Given the description of an element on the screen output the (x, y) to click on. 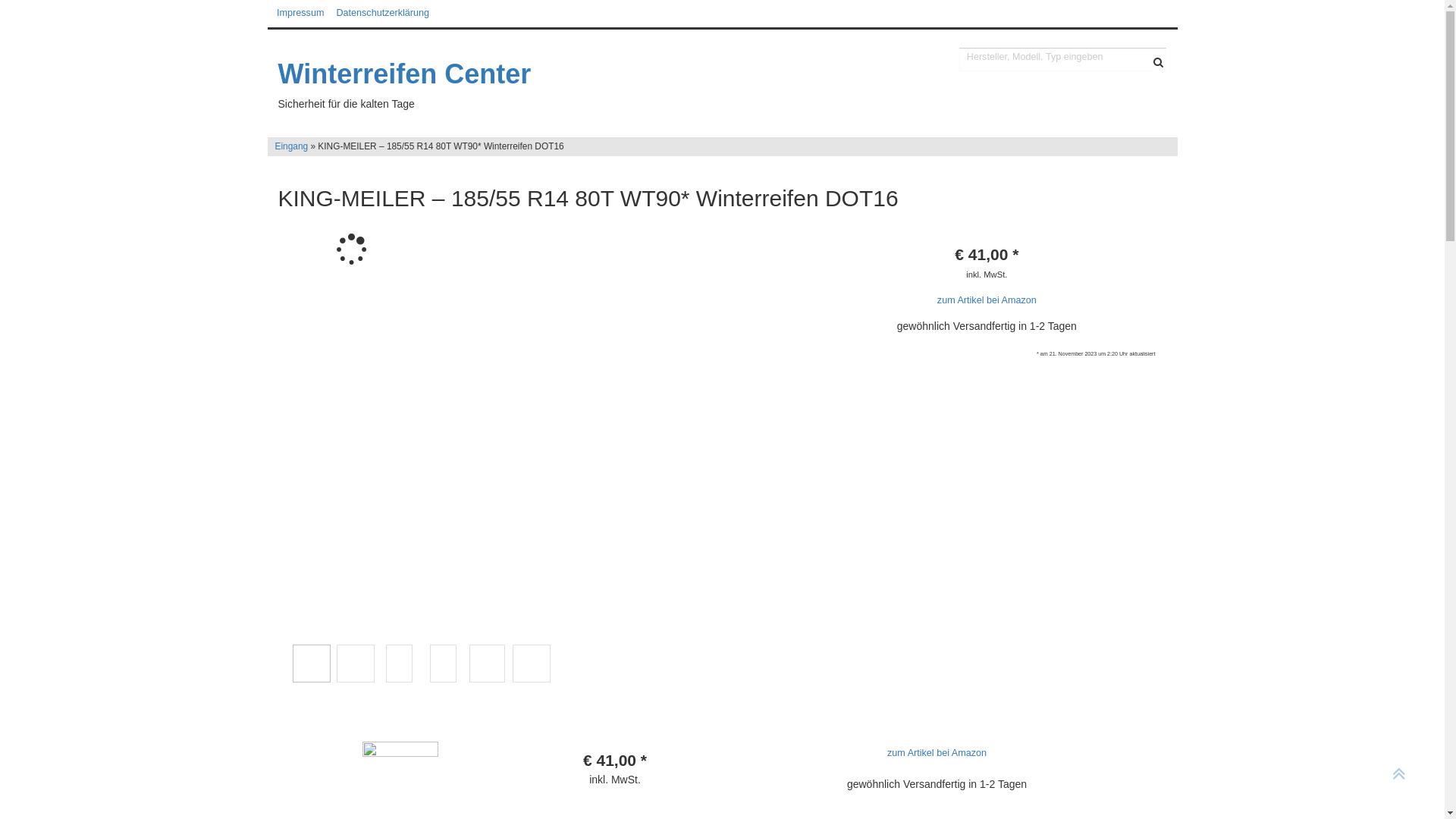
Winterreifen Center Element type: text (462, 74)
zum Artikel bei Amazon Element type: text (936, 753)
Eingang Element type: text (290, 146)
Impressum Element type: text (299, 12)
zum Artikel bei Amazon Element type: text (986, 300)
